Given the description of an element on the screen output the (x, y) to click on. 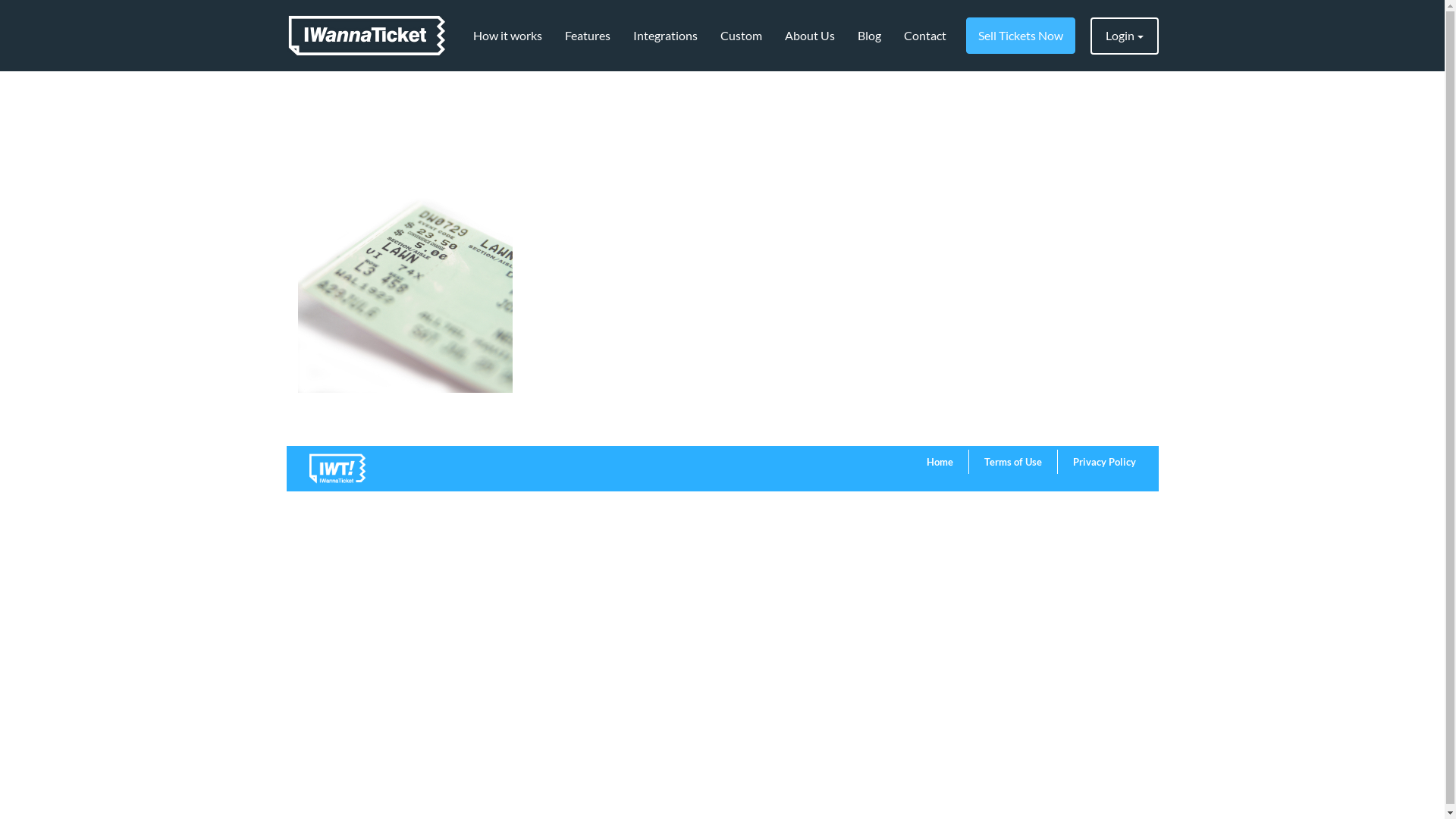
Custom Element type: text (740, 35)
Blog Element type: text (869, 35)
Terms of Use Element type: text (1013, 461)
Privacy Policy Element type: text (1103, 461)
Login Element type: text (1124, 35)
Contact Element type: text (924, 35)
Integrations Element type: text (665, 35)
How it works Element type: text (506, 35)
Features Element type: text (587, 35)
IWannaTicket Element type: text (366, 35)
Sorry Element type: hover (404, 231)
Sell Tickets Now Element type: text (1020, 35)
About Us Element type: text (809, 35)
Home Element type: text (940, 461)
